Given the description of an element on the screen output the (x, y) to click on. 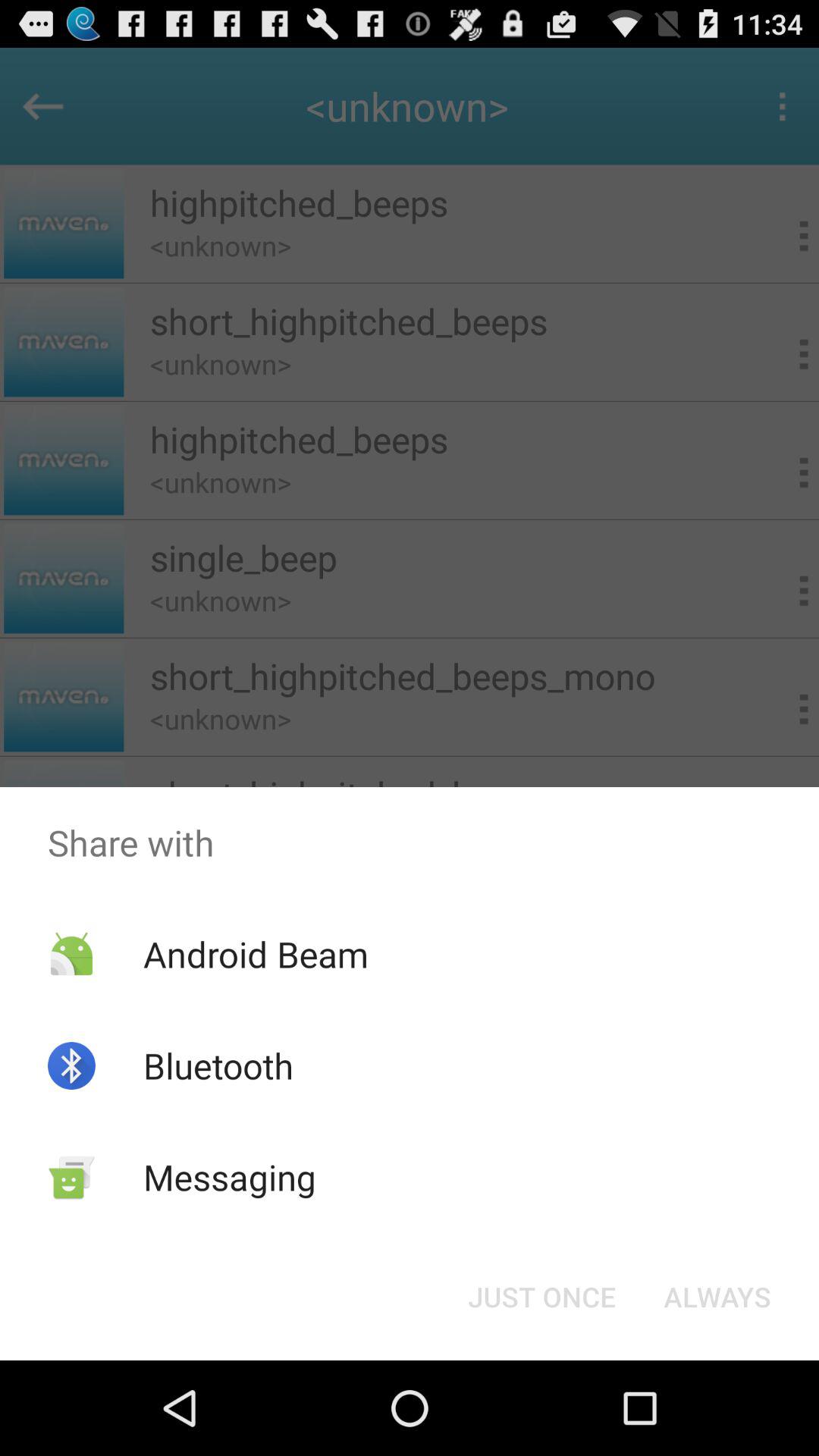
select icon below share with app (255, 953)
